Given the description of an element on the screen output the (x, y) to click on. 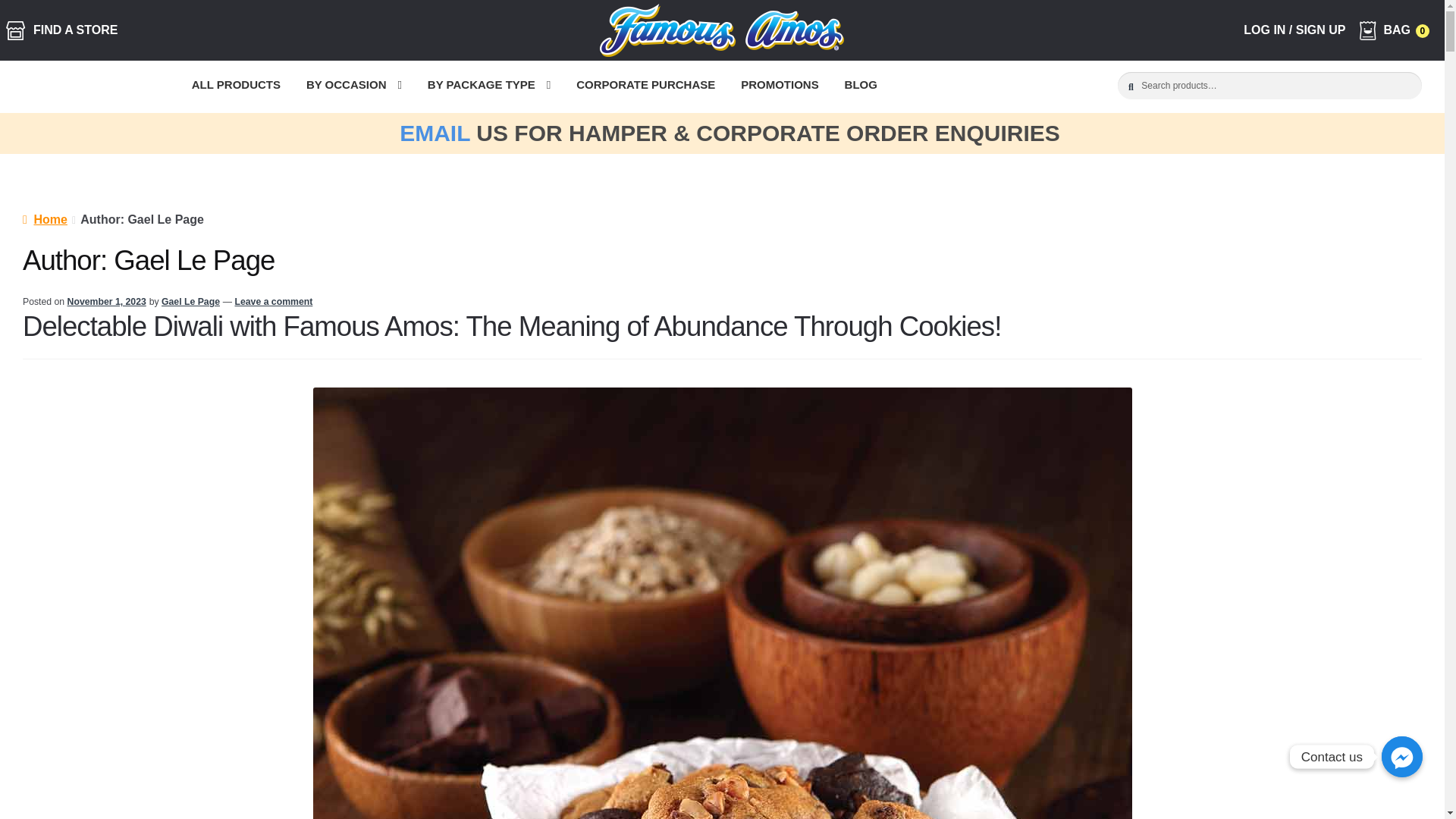
ALL PRODUCTS (236, 85)
BY OCCASION (354, 85)
FIND A STORE (61, 29)
